Given the description of an element on the screen output the (x, y) to click on. 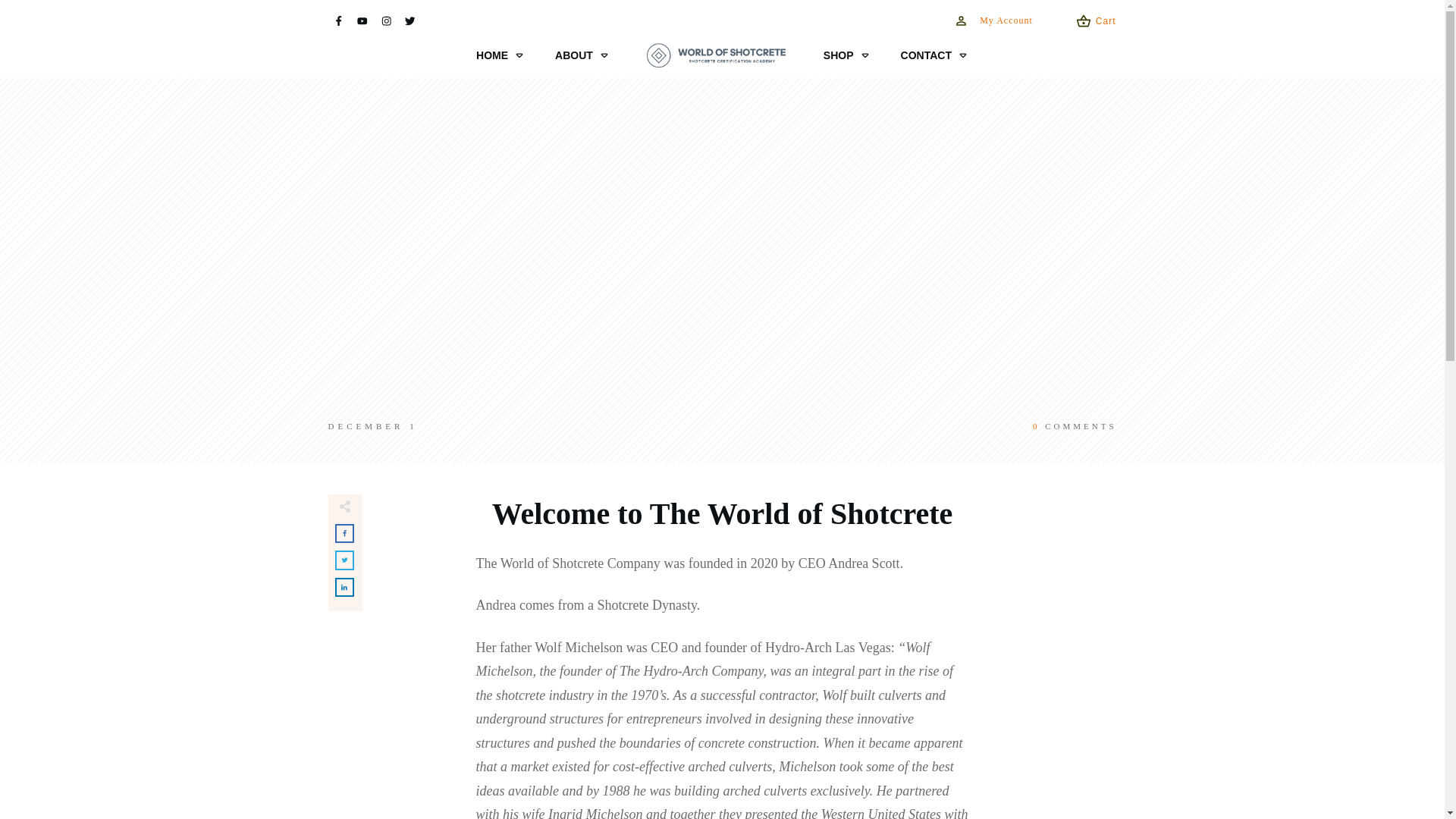
HOME (500, 55)
ABOUT (582, 55)
CONTACT (934, 55)
My Account (993, 20)
SHOP (847, 55)
